Given the description of an element on the screen output the (x, y) to click on. 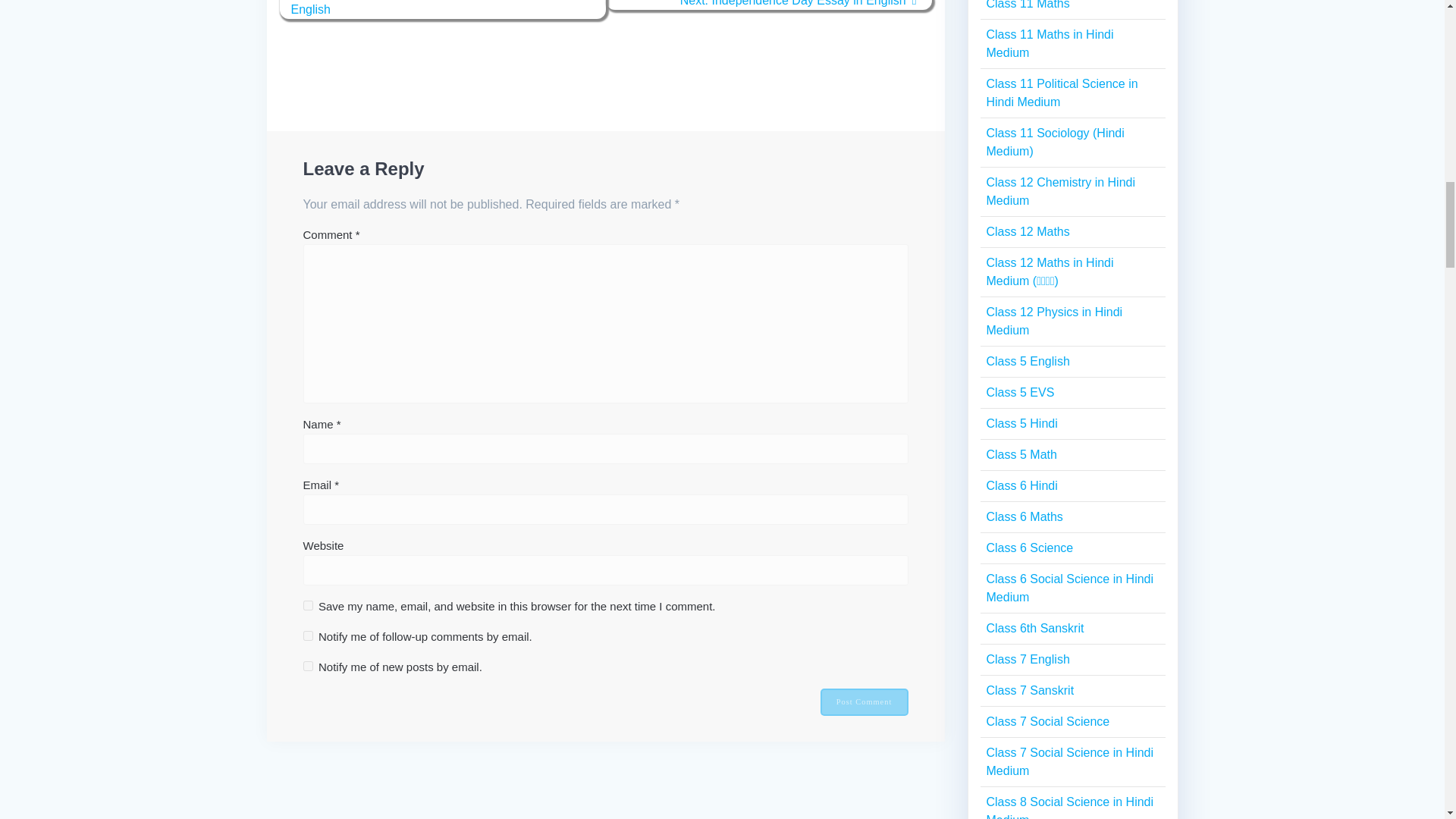
subscribe (307, 665)
subscribe (307, 635)
yes (307, 605)
Post Comment (864, 701)
